Given the description of an element on the screen output the (x, y) to click on. 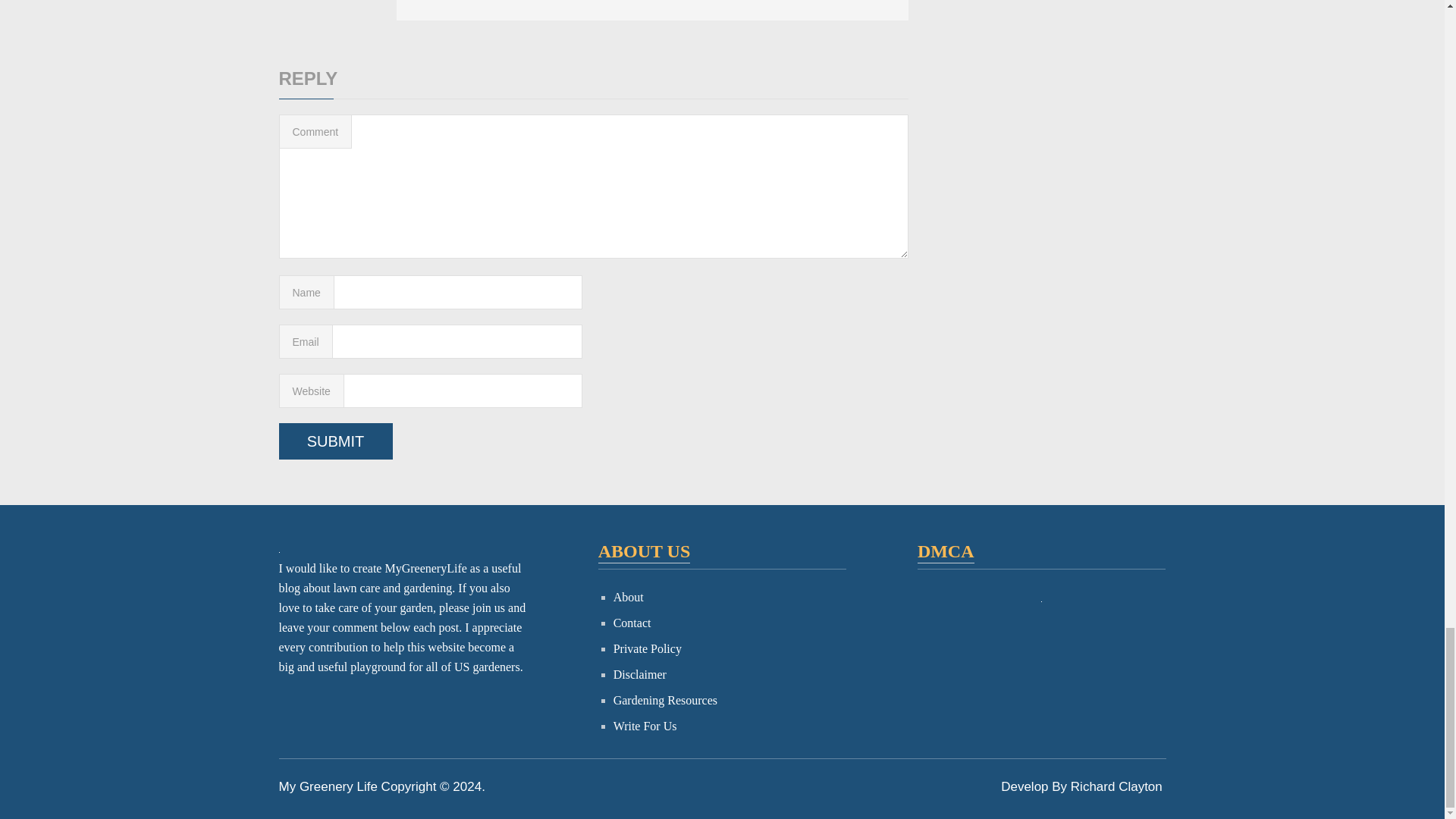
Submit (336, 441)
Submit (336, 441)
Contact (631, 622)
Disclaimer (639, 674)
Gardening Resources (664, 699)
About (627, 596)
Private Policy (646, 648)
